Given the description of an element on the screen output the (x, y) to click on. 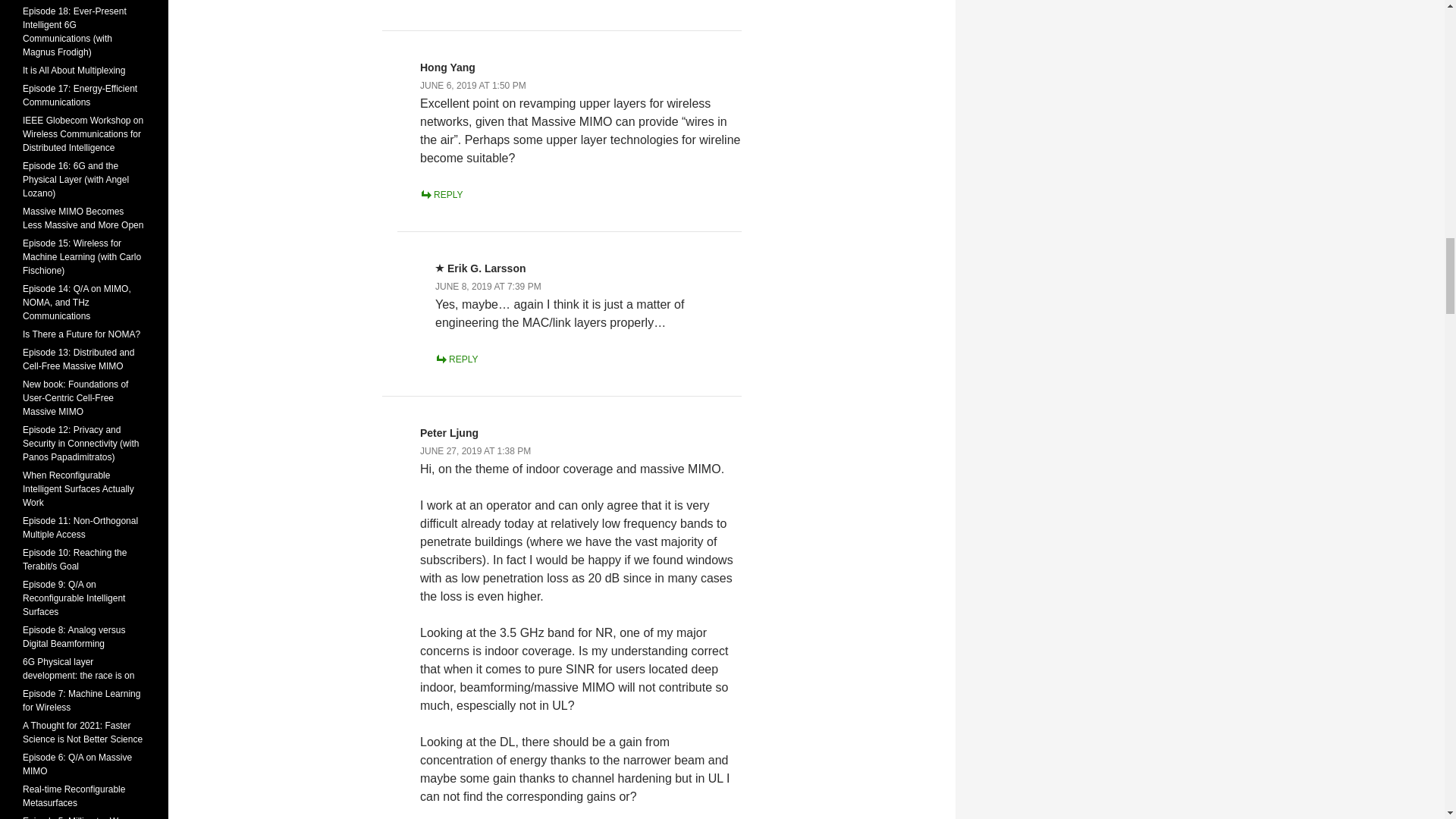
REPLY (441, 194)
JUNE 8, 2019 AT 7:39 PM (488, 286)
JUNE 6, 2019 AT 1:50 PM (472, 85)
JUNE 27, 2019 AT 1:38 PM (475, 450)
REPLY (456, 358)
